Given the description of an element on the screen output the (x, y) to click on. 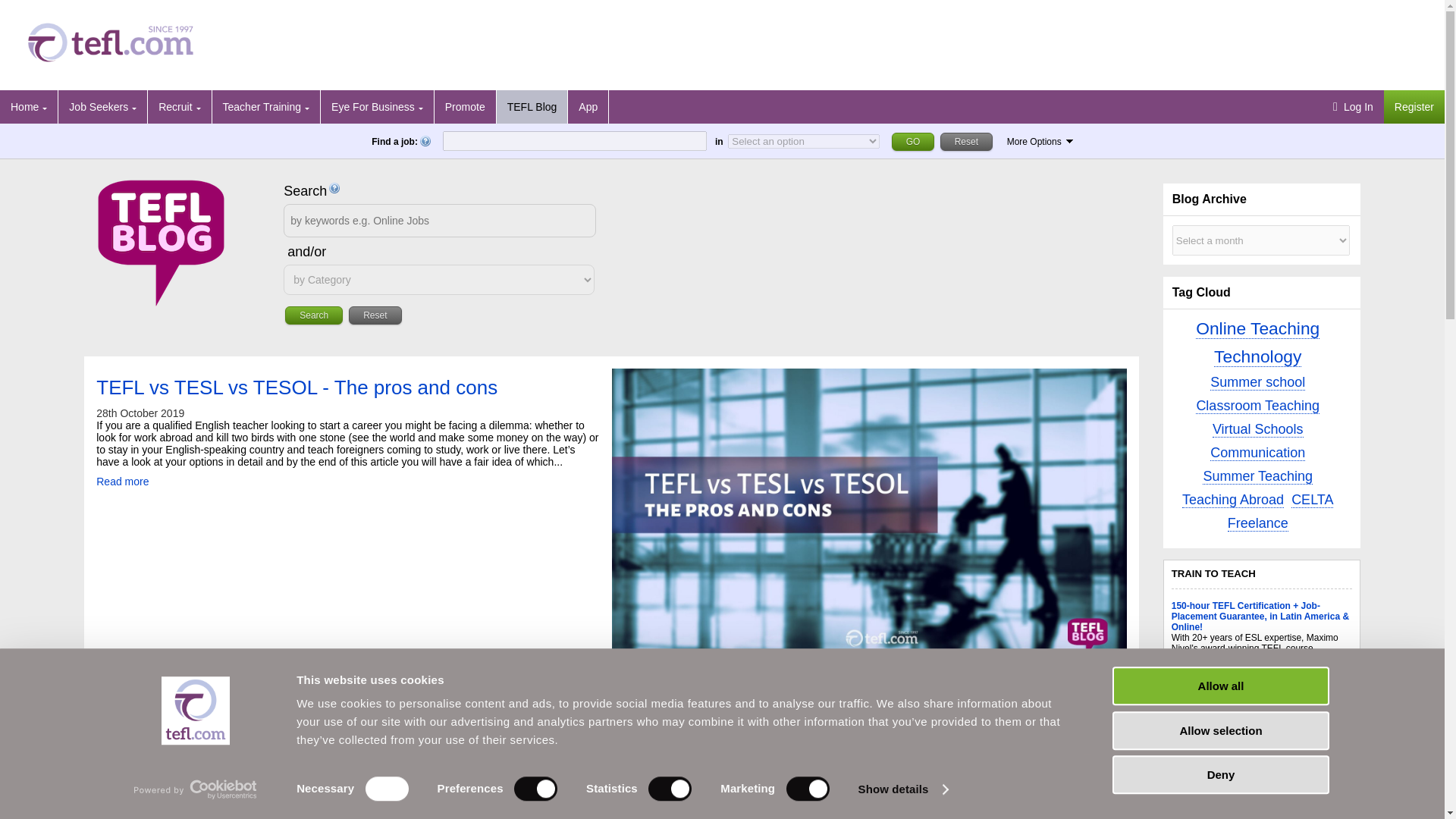
Search (313, 315)
Reset (966, 141)
Deny (1219, 774)
GO (912, 141)
Show details (902, 789)
Search (313, 315)
Home (29, 106)
Allow selection (1219, 730)
Allow all (1219, 685)
